Given the description of an element on the screen output the (x, y) to click on. 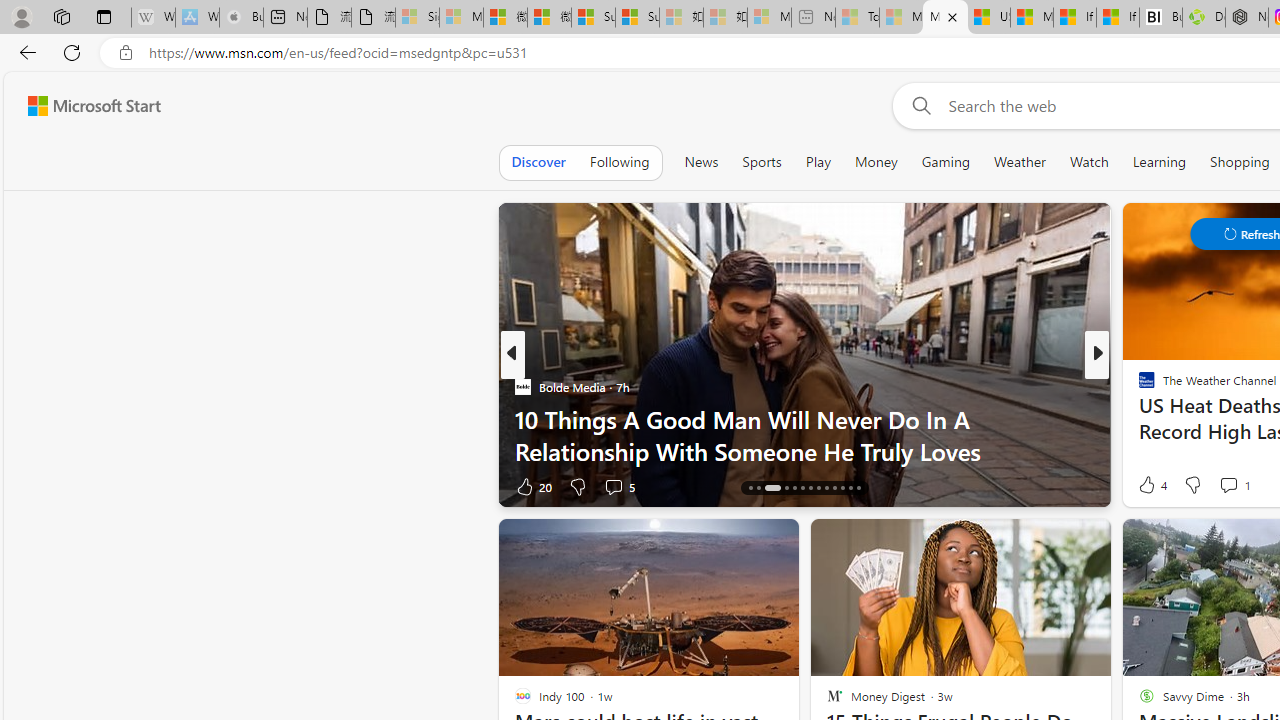
AutomationID: tab-21 (818, 487)
AutomationID: tab-19 (801, 487)
AutomationID: tab-26 (857, 487)
View comments 2 Comment (1229, 485)
AutomationID: tab-16 (772, 487)
View comments 5 Comment (618, 486)
ChaChingQueen (1138, 386)
